Given the description of an element on the screen output the (x, y) to click on. 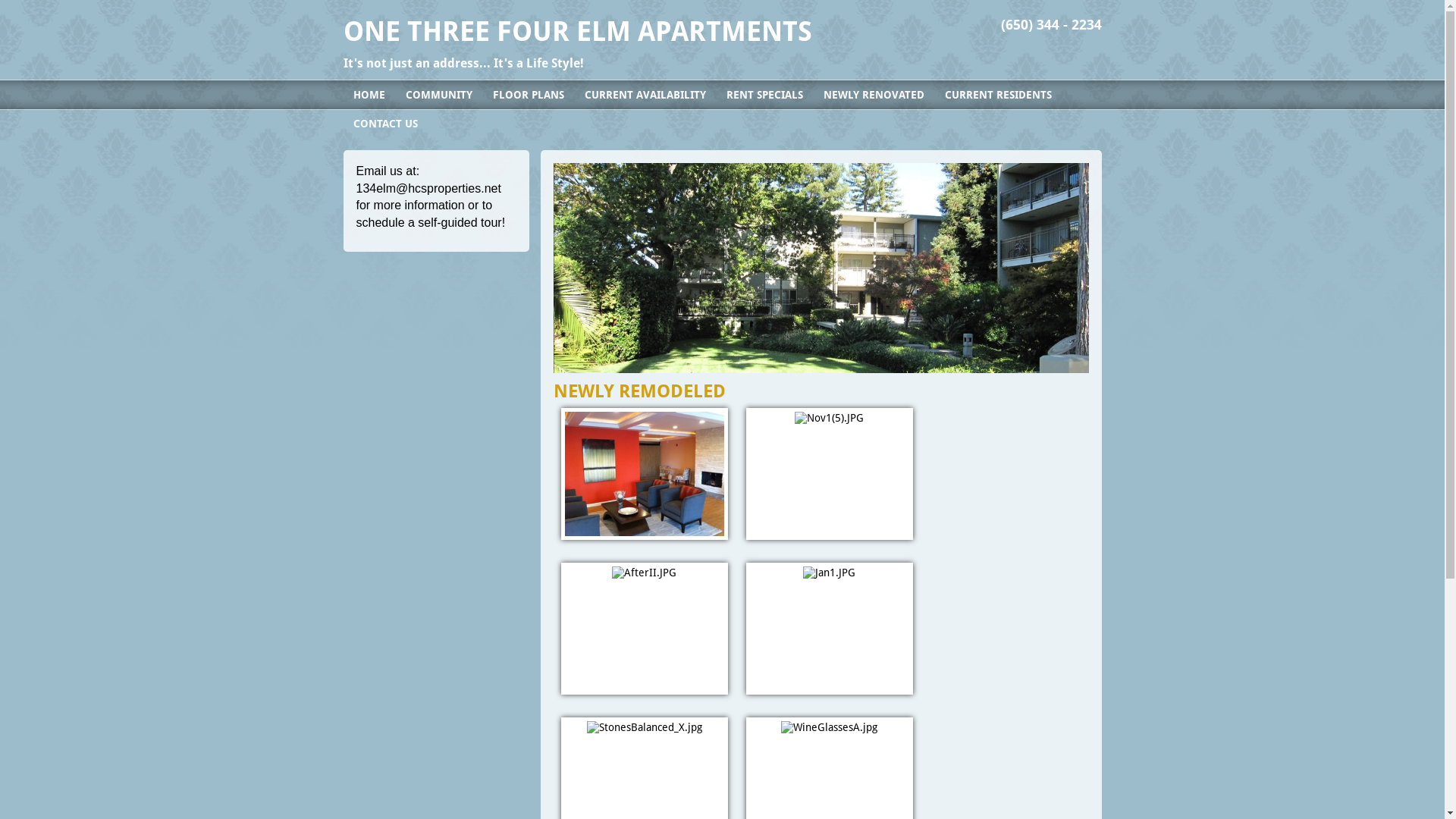
HOME Element type: text (368, 94)
NEWLY RENOVATED Element type: text (872, 94)
CURRENT AVAILABILITY Element type: text (644, 94)
CURRENT RESIDENTS Element type: text (997, 94)
FLOOR PLANS Element type: text (527, 94)
RENT SPECIALS Element type: text (763, 94)
COMMUNITY Element type: text (438, 94)
ONE THREE FOUR ELM APARTMENTS Element type: text (576, 31)
CONTACT US Element type: text (384, 123)
